Given the description of an element on the screen output the (x, y) to click on. 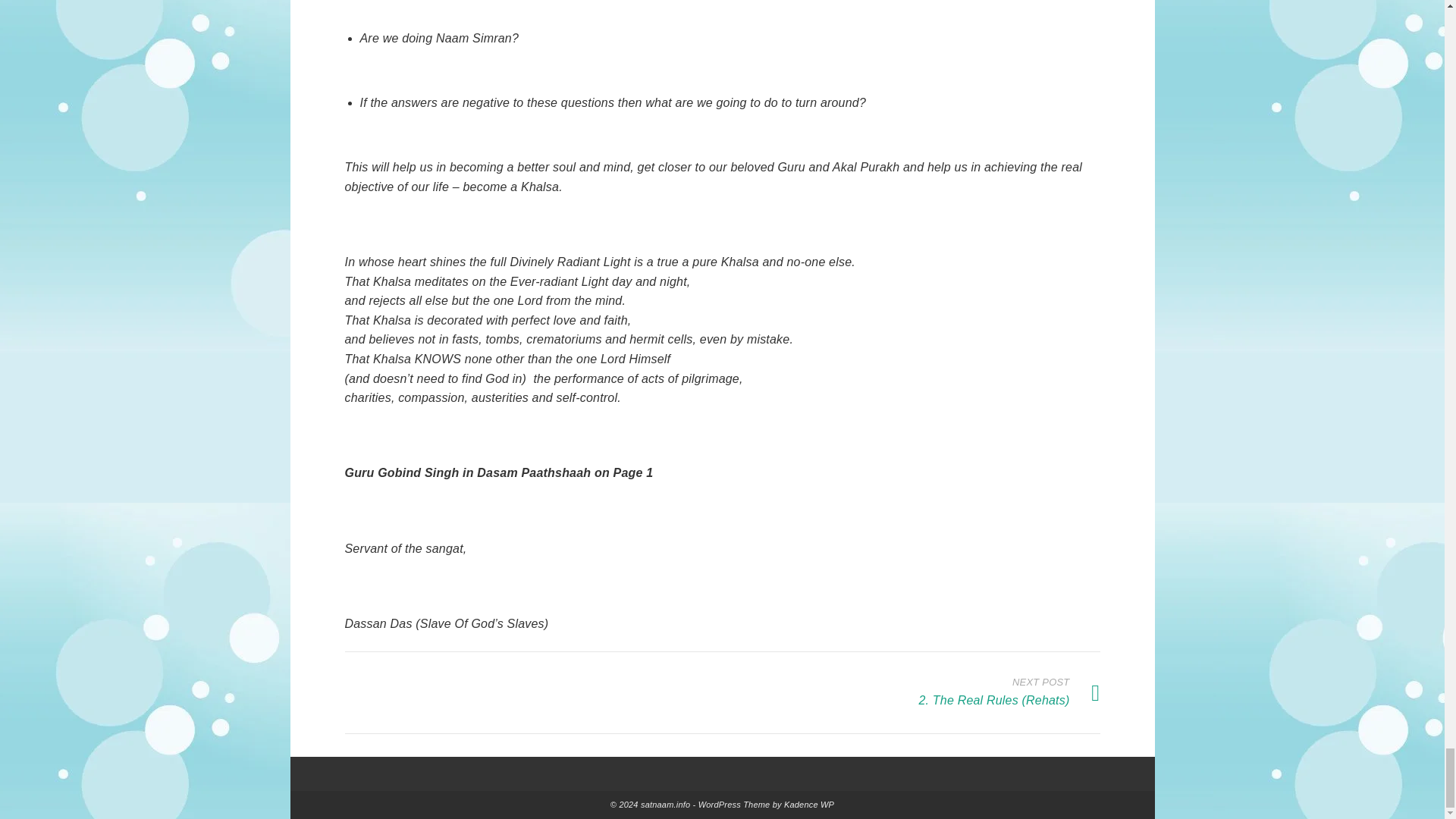
Kadence WP (809, 804)
